Given the description of an element on the screen output the (x, y) to click on. 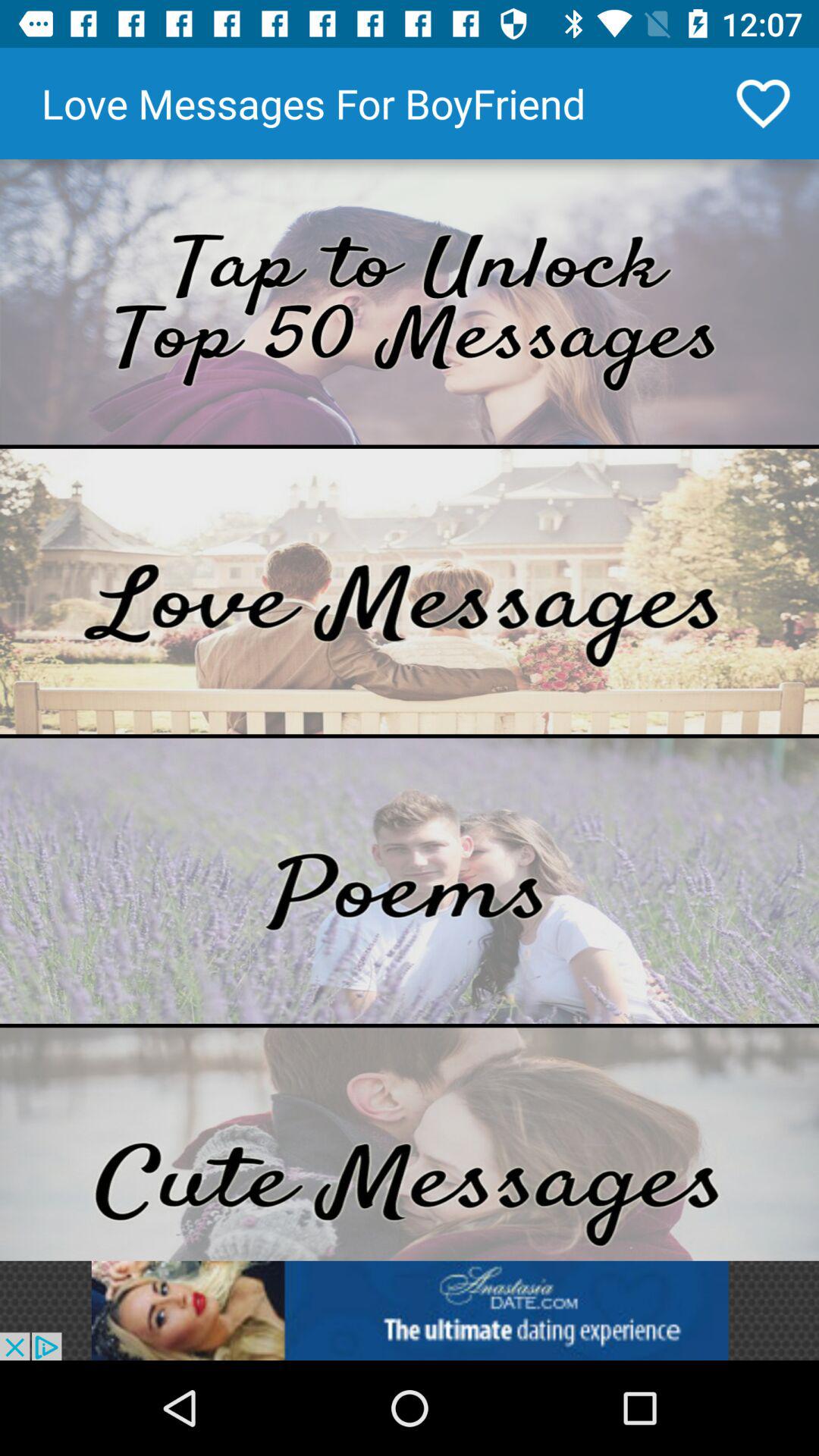
go to advertising advertisement (409, 1310)
